Given the description of an element on the screen output the (x, y) to click on. 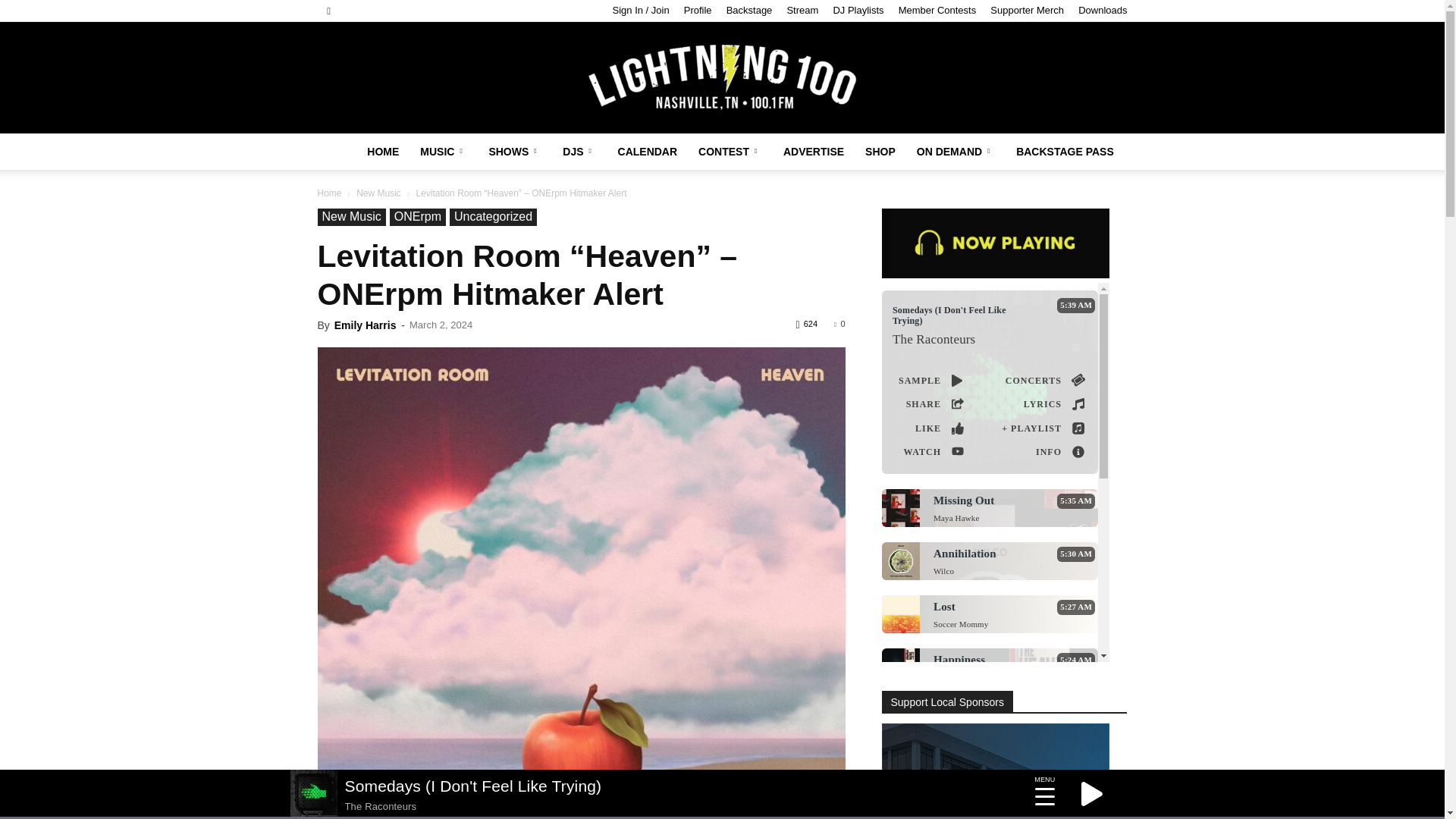
View all posts in New Music (378, 193)
Youtube (426, 10)
Instagram (376, 10)
Facebook (350, 10)
Twitter (401, 10)
